Given the description of an element on the screen output the (x, y) to click on. 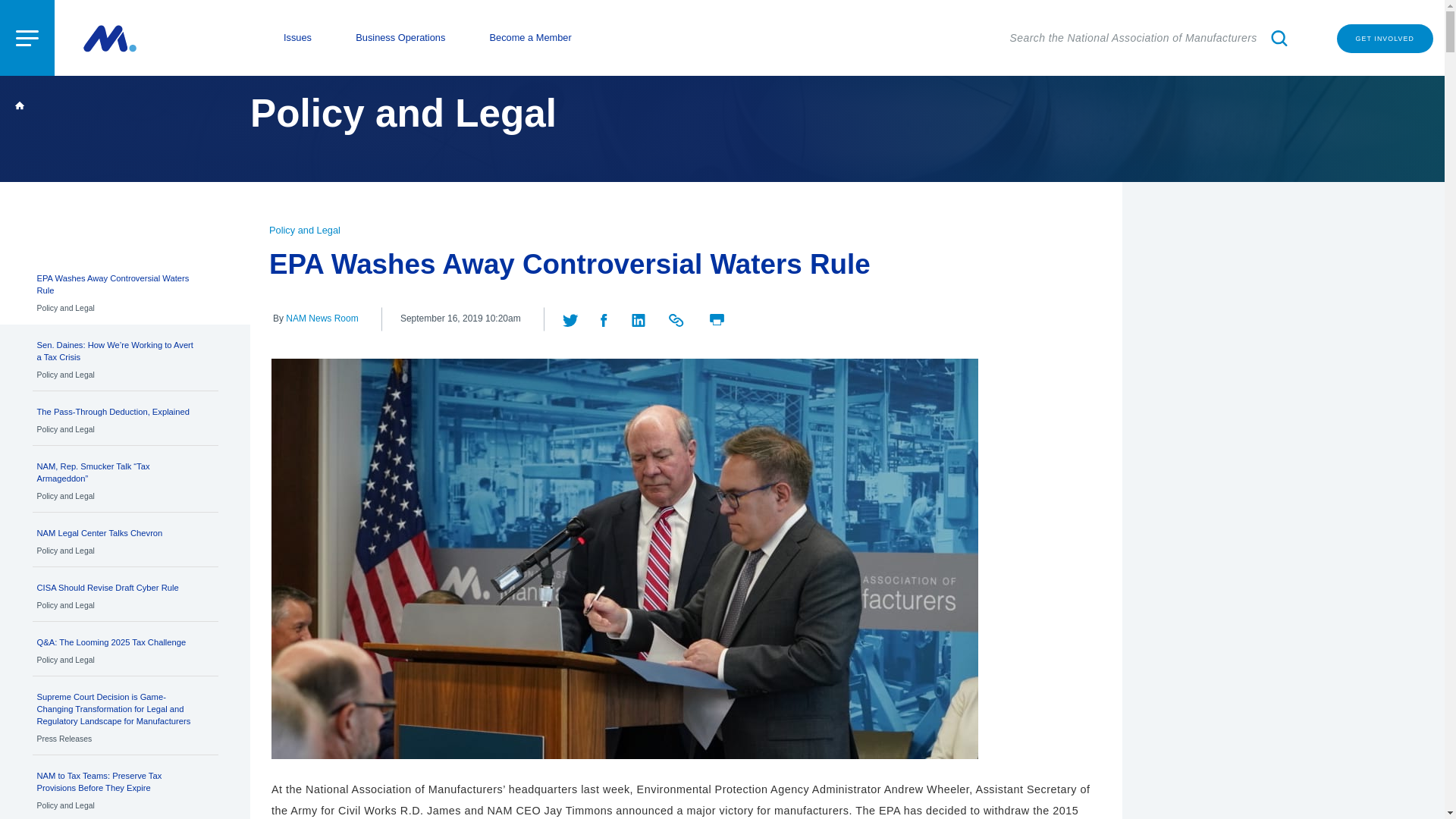
Search the National Association of Manufacturers (1150, 37)
Business Operations (400, 37)
NAM News Room (125, 539)
Issues (125, 594)
GET INVOLVED (321, 317)
Policy and Legal (297, 37)
Monday, September 16th at 10:20am (125, 418)
Share on LinkedIn (1384, 39)
Share on Twitter (304, 229)
